Given the description of an element on the screen output the (x, y) to click on. 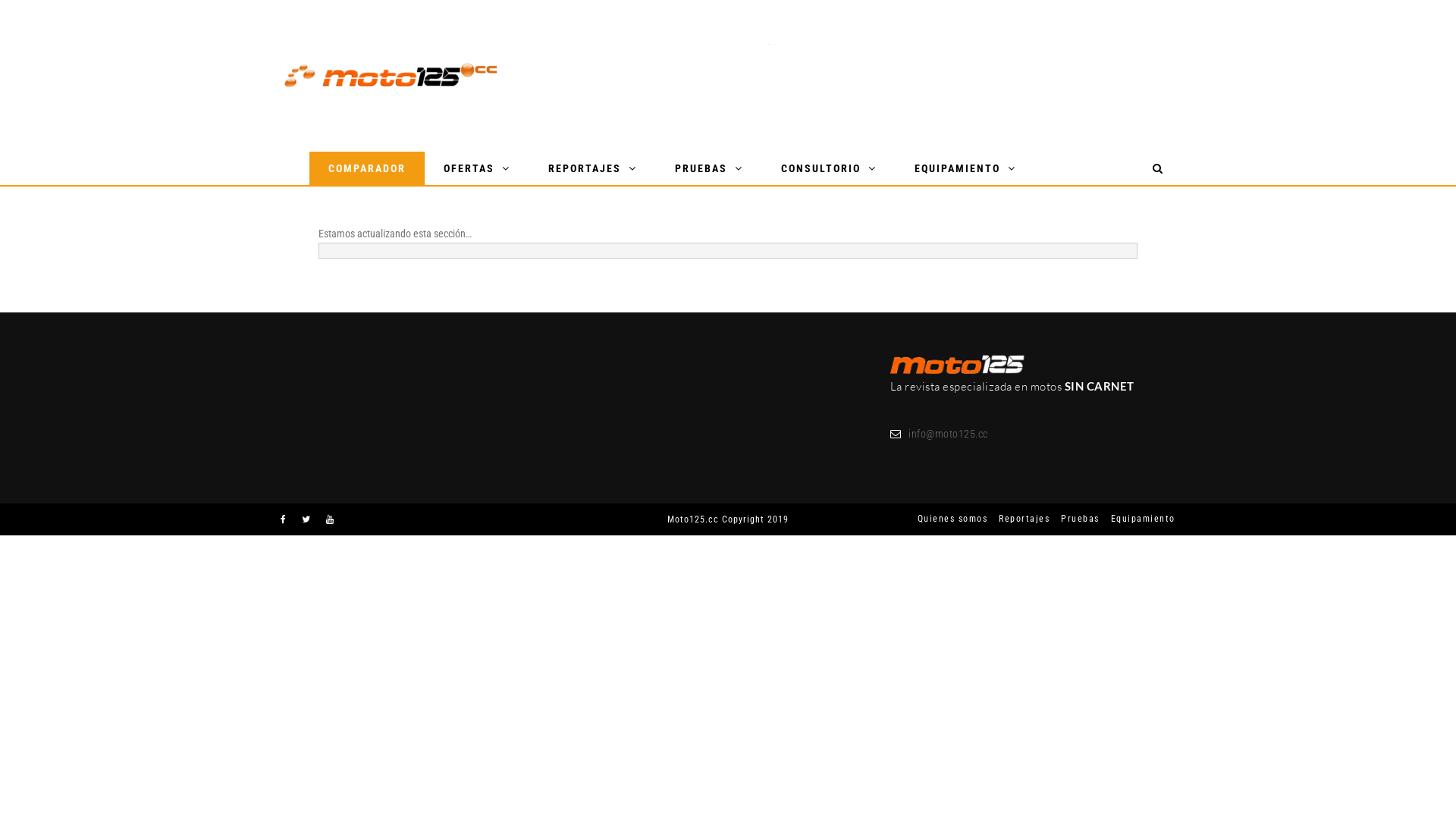
Quienes somos Element type: text (947, 518)
Reportajes Element type: text (1018, 518)
Equipamiento Element type: text (1137, 518)
Pruebas Element type: text (1074, 518)
CONSULTORIO Element type: text (828, 168)
PRUEBAS Element type: text (708, 168)
COMPARADOR Element type: text (366, 168)
contact Image Element type: hover (957, 365)
REPORTAJES Element type: text (592, 168)
OFERTAS Element type: text (476, 168)
EQUIPAMIENTO Element type: text (965, 168)
